Given the description of an element on the screen output the (x, y) to click on. 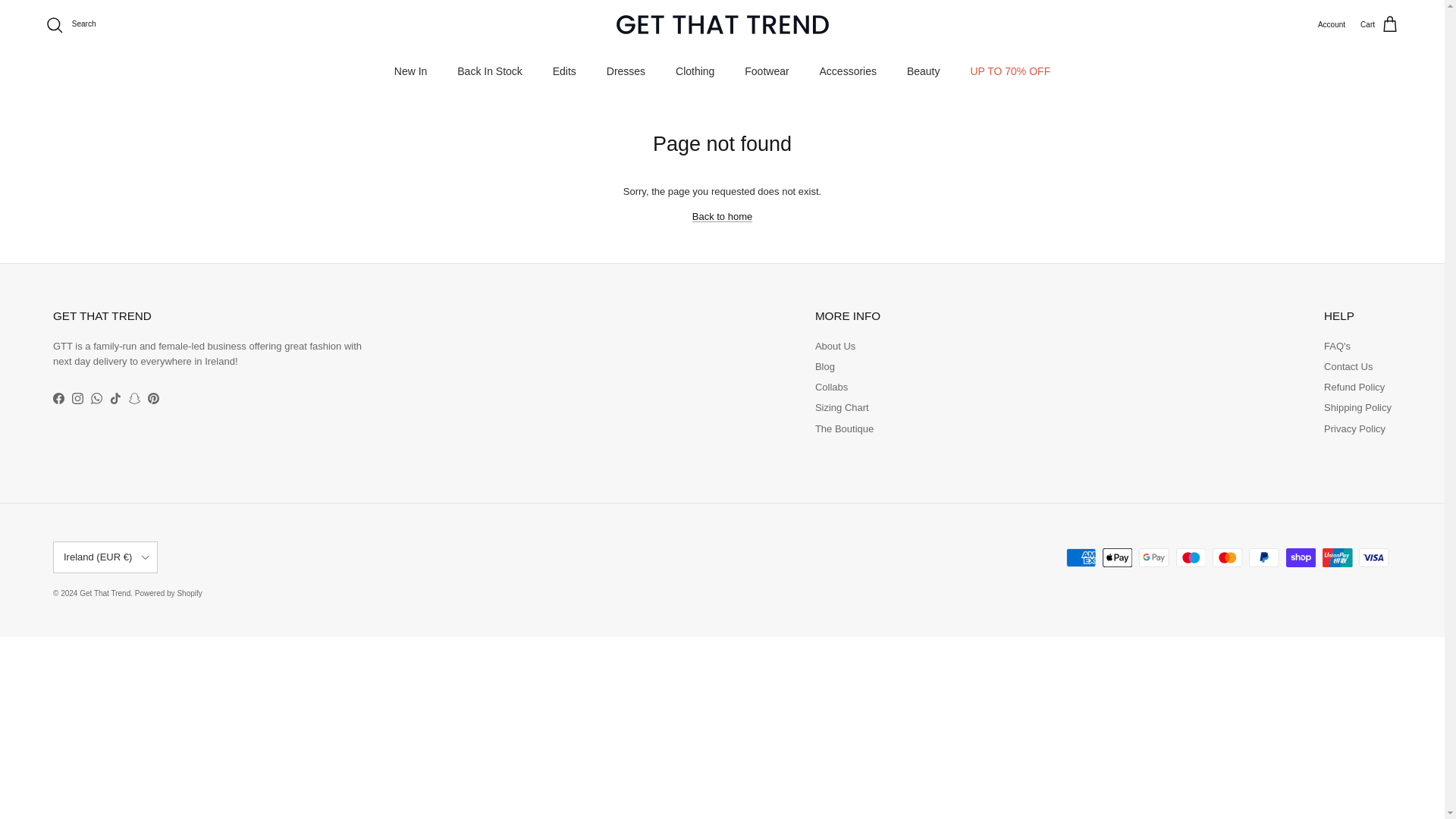
Mastercard (1226, 557)
Union Pay (1337, 557)
Get That Trend on WhatsApp (95, 398)
Get That Trend on Instagram (76, 398)
Get That Trend on Facebook (58, 398)
Maestro (1190, 557)
American Express (1080, 557)
Visa (1373, 557)
Get That Trend on TikTok (115, 398)
Get That Trend on Snapchat (134, 398)
